Given the description of an element on the screen output the (x, y) to click on. 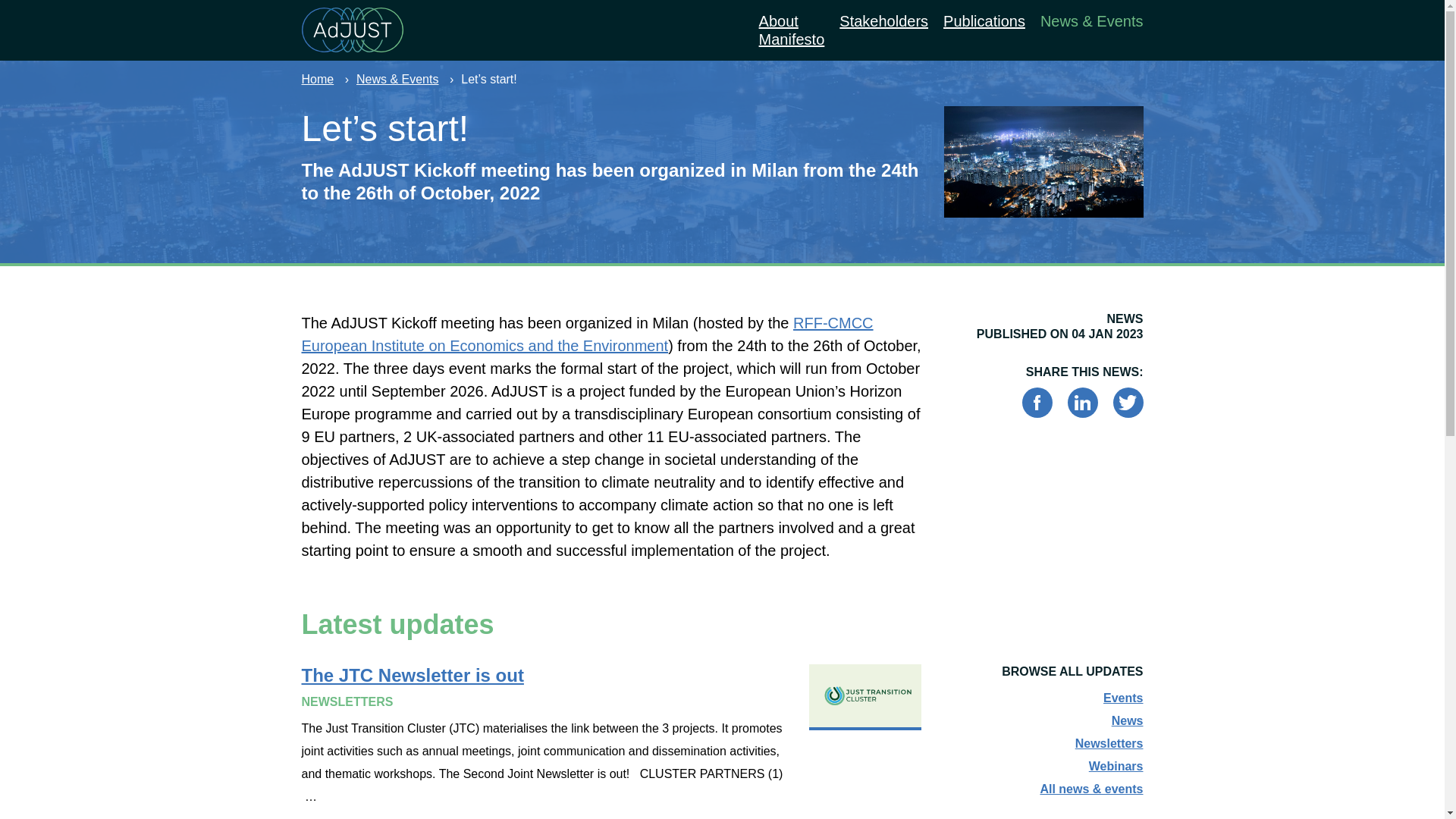
Events (1122, 697)
Home (328, 78)
Webinars (1115, 766)
RFF-CMCC European Institute on Economics and the Environment (587, 333)
Manifesto (791, 38)
Publications (984, 20)
Newsletters (1108, 743)
Newsletters (1108, 743)
Webinars (1115, 766)
The JTC Newsletter is out (611, 736)
